Given the description of an element on the screen output the (x, y) to click on. 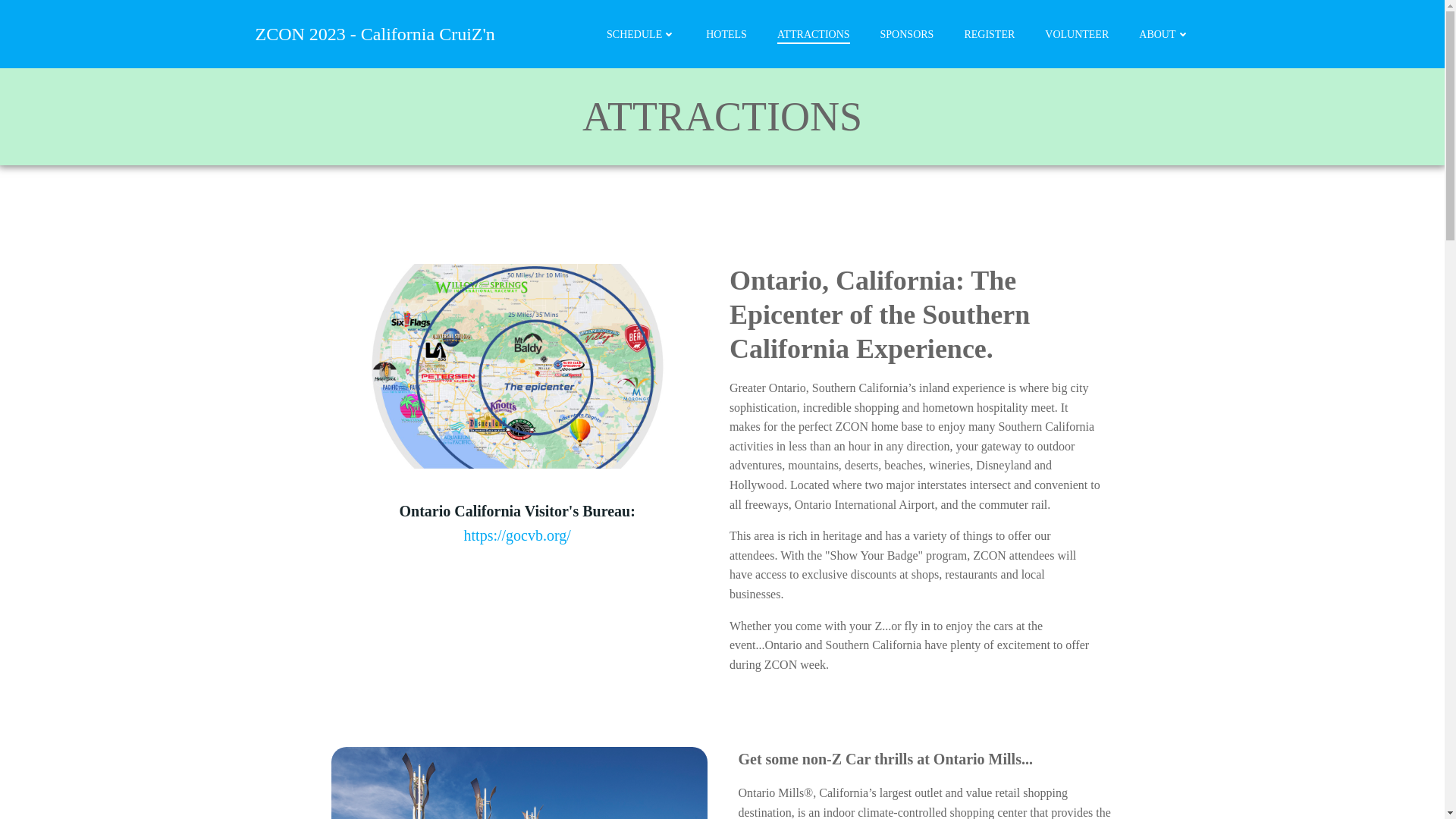
ZCON 2023 - California CruiZ'n (374, 33)
HOTELS (726, 33)
Slide12 (516, 365)
SPONSORS (907, 33)
ATTRACTIONS (813, 33)
Ontario Mills (518, 782)
VOLUNTEER (1076, 33)
REGISTER (988, 33)
SCHEDULE (641, 33)
ABOUT (1163, 33)
